Given the description of an element on the screen output the (x, y) to click on. 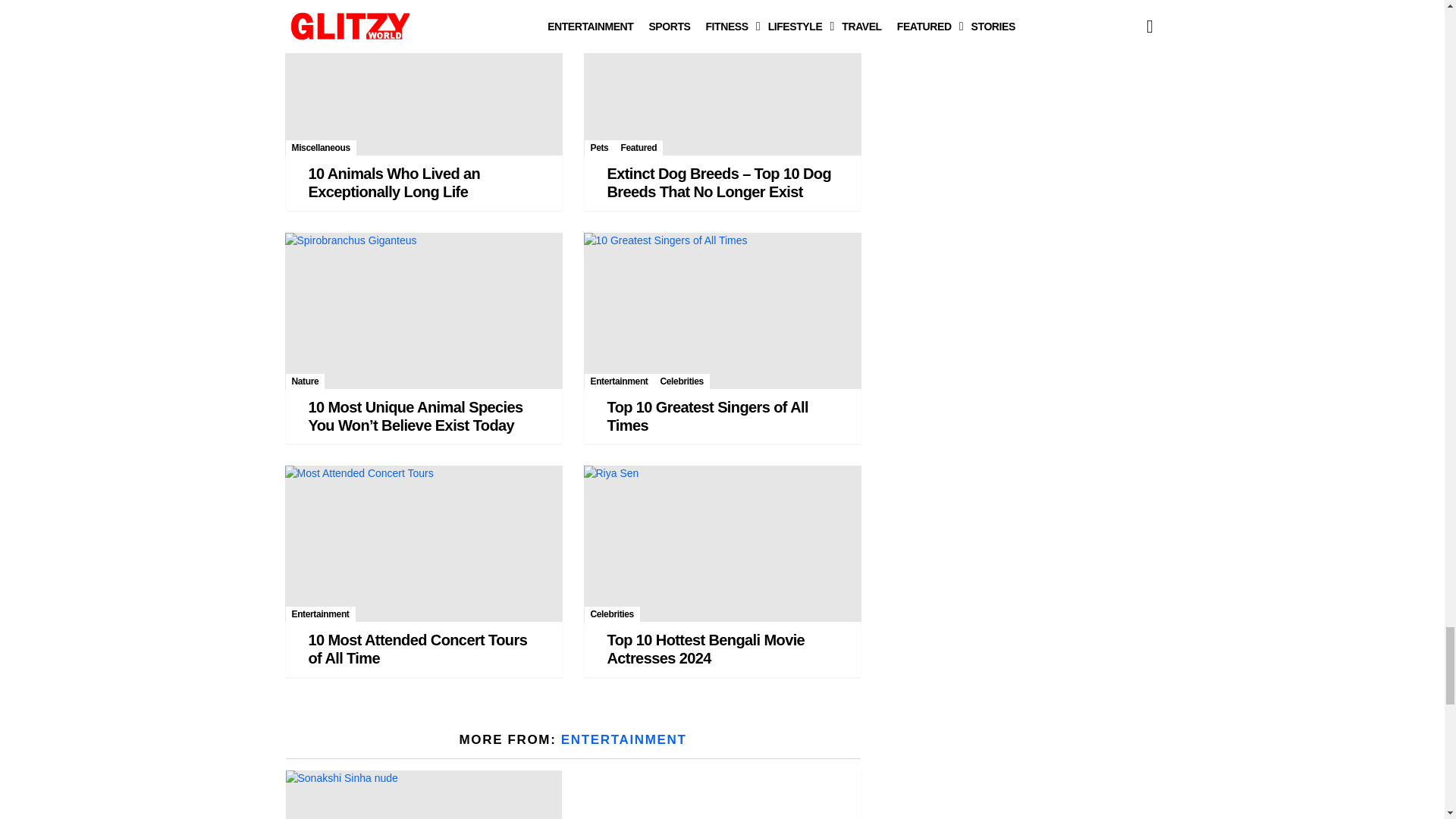
10 Animals Who Lived an Exceptionally Long Life (423, 77)
Top 10 Greatest Singers of All Times (722, 310)
